Given the description of an element on the screen output the (x, y) to click on. 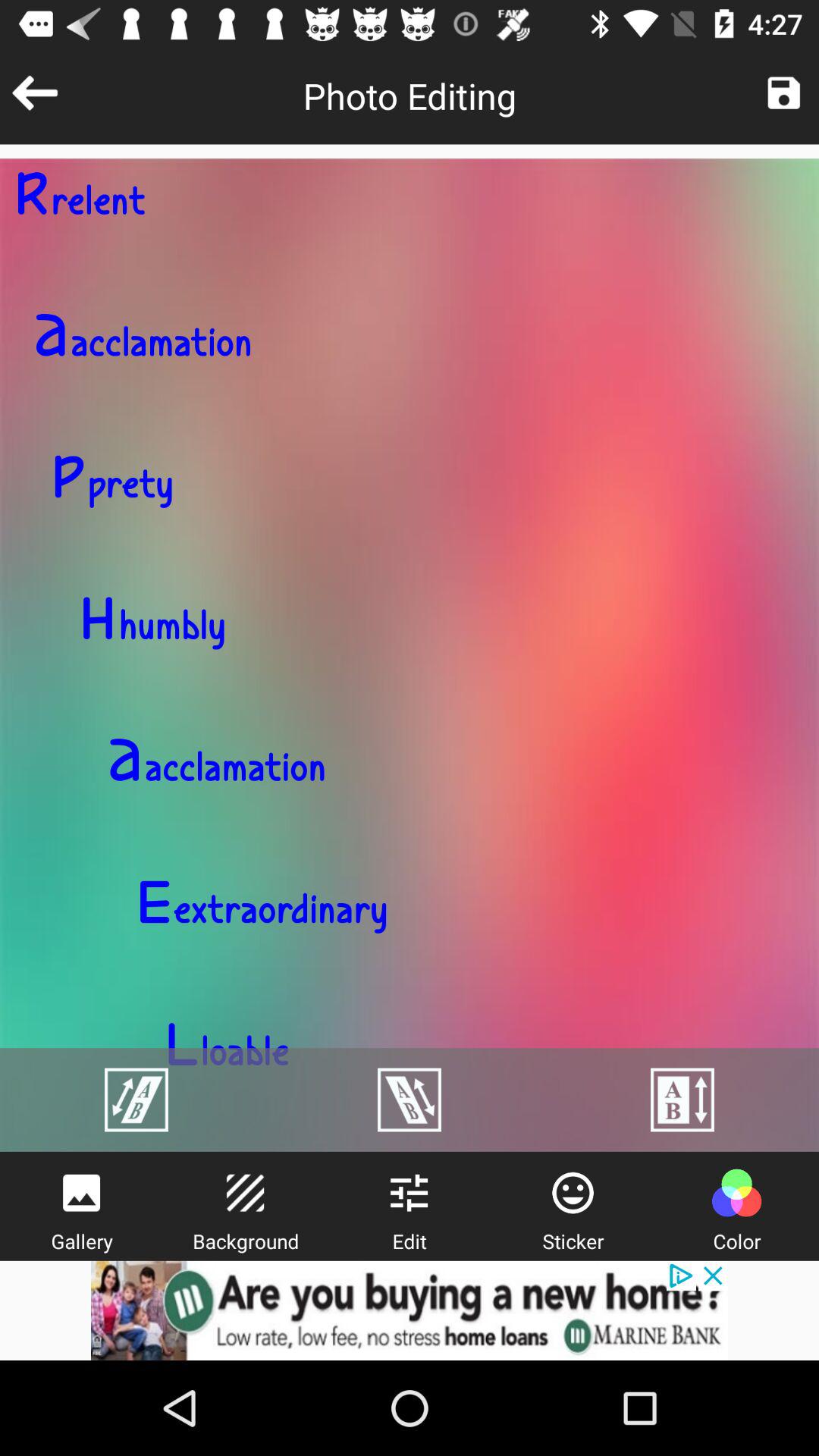
align words diagonally (136, 1099)
